Given the description of an element on the screen output the (x, y) to click on. 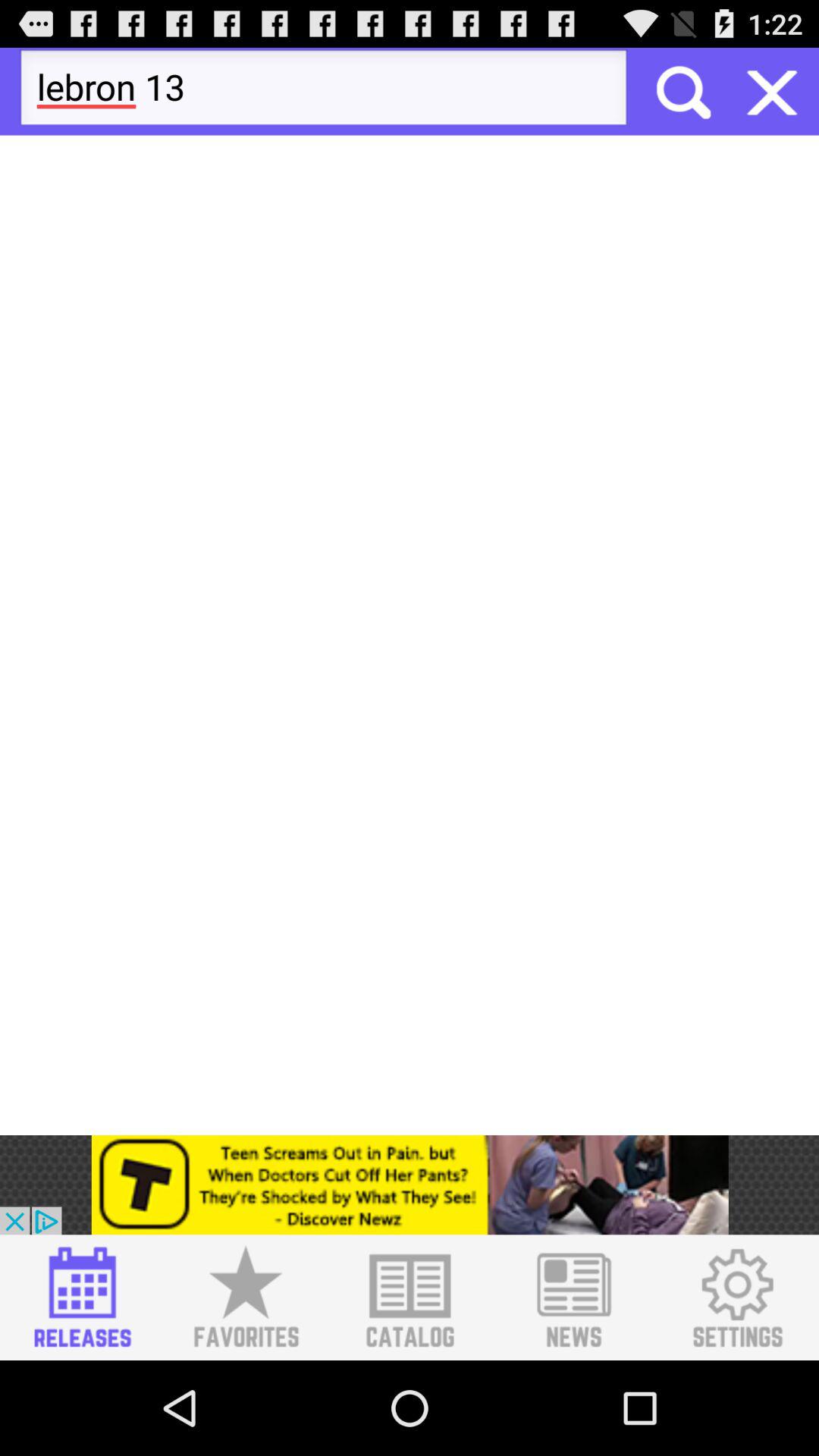
advertisement (409, 1184)
